Given the description of an element on the screen output the (x, y) to click on. 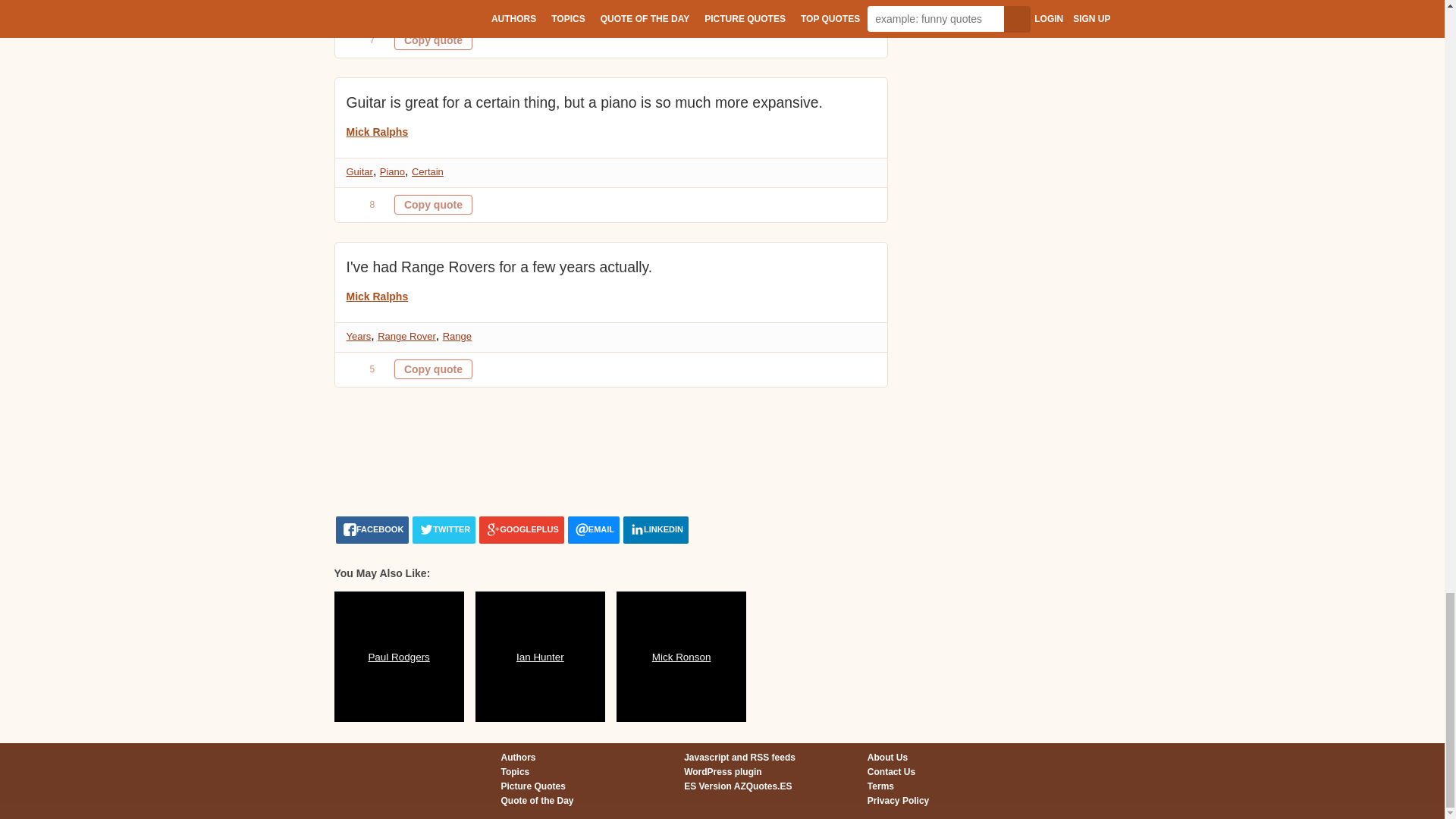
Quote is copied (432, 369)
Quote is copied (432, 204)
Quote is copied (432, 39)
